Given the description of an element on the screen output the (x, y) to click on. 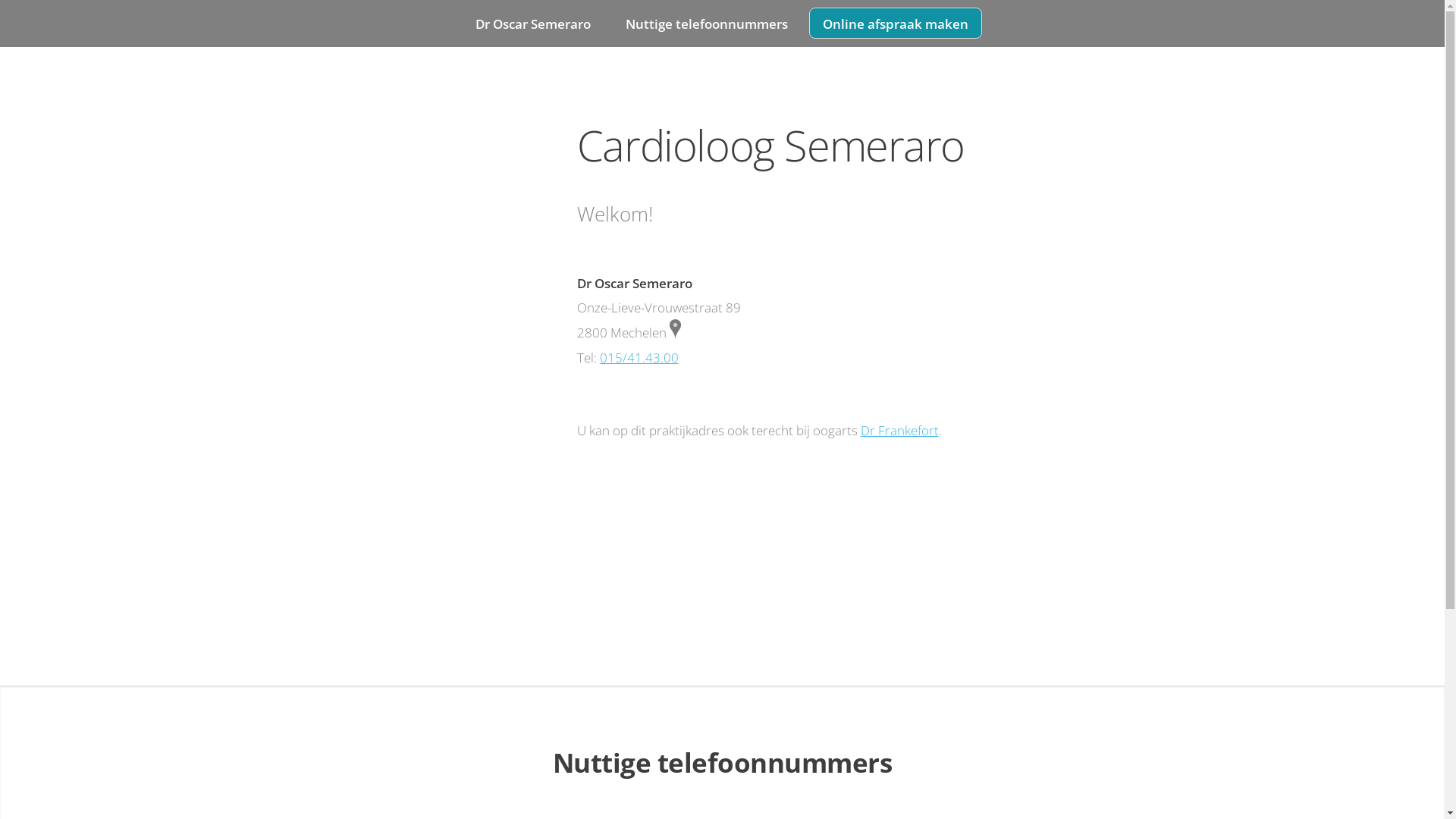
Dr Frankefort Element type: text (899, 429)
Online afspraak maken Element type: text (895, 22)
Nuttige telefoonnummers Element type: text (705, 22)
015/41.43.00 Element type: text (638, 357)
Dr Oscar Semeraro Element type: text (533, 22)
